Given the description of an element on the screen output the (x, y) to click on. 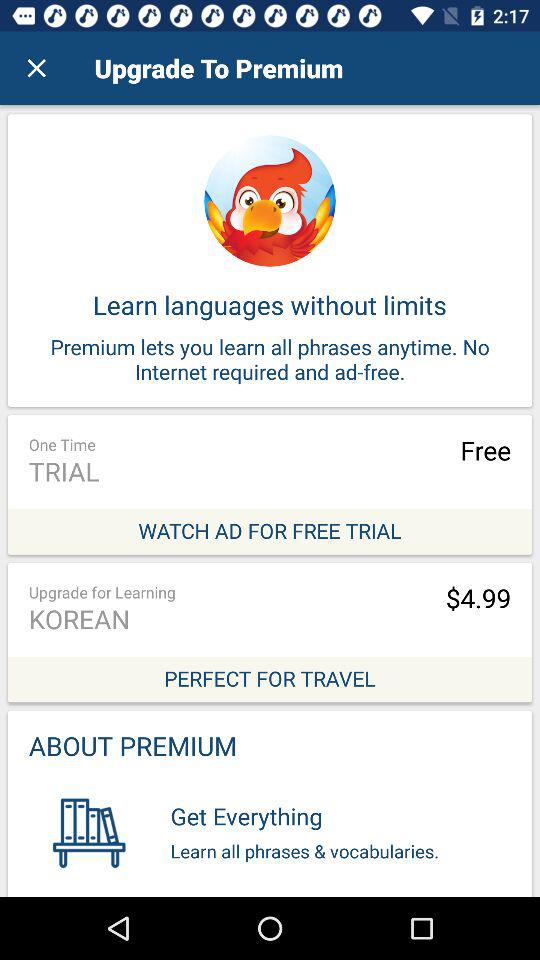
select item to the left of upgrade to premium icon (36, 68)
